Given the description of an element on the screen output the (x, y) to click on. 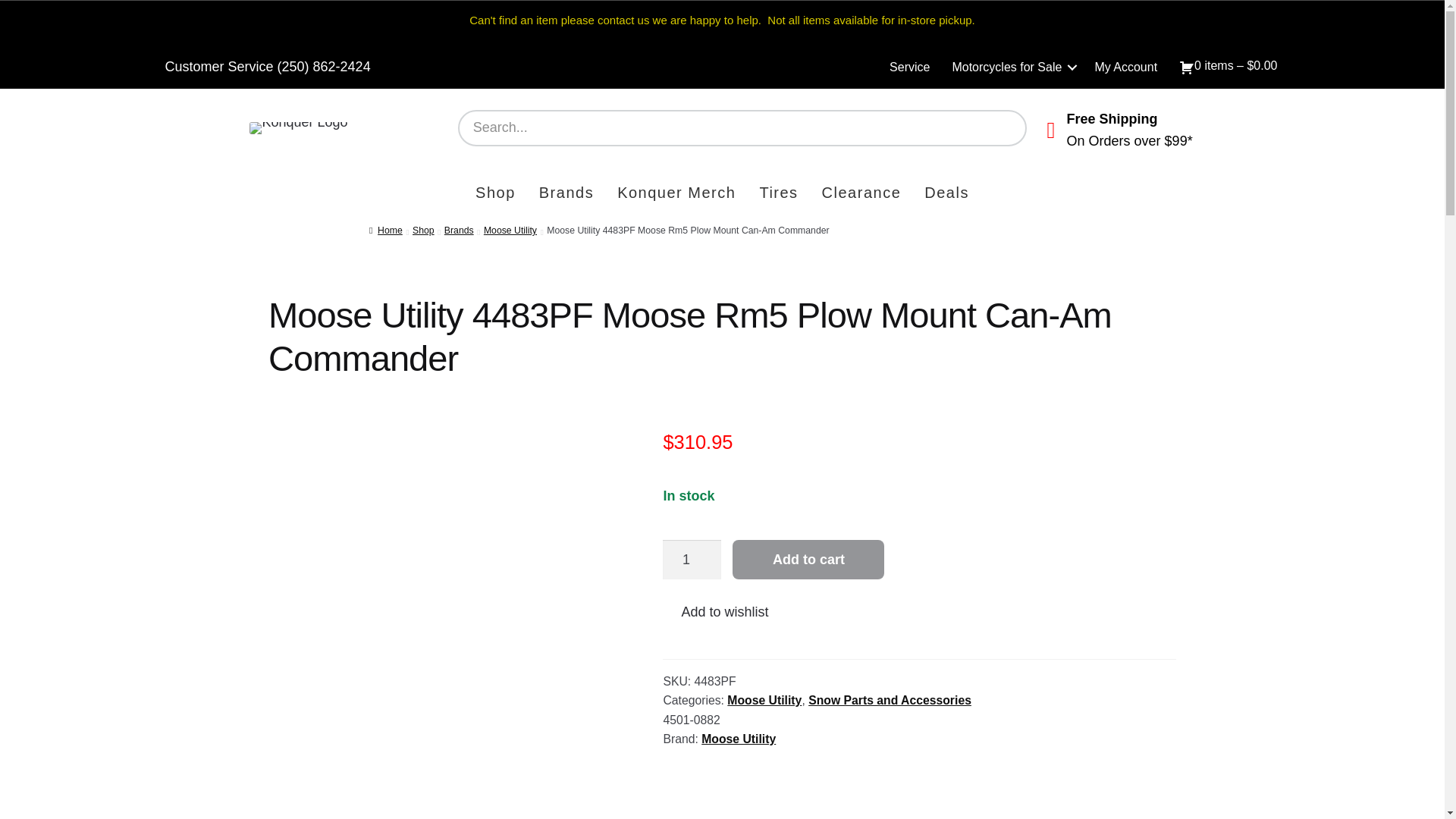
Motorcycles for Sale (1011, 66)
Deals (945, 194)
Add to cart (807, 558)
Brands (566, 194)
Clearance (861, 194)
1 (691, 558)
Konquer Logo (297, 128)
Konquer Merch (675, 194)
Tires (778, 194)
Customer Service (219, 66)
Moose Utility (510, 230)
Brands (459, 230)
Service (909, 66)
Home (386, 230)
Shop (422, 230)
